Given the description of an element on the screen output the (x, y) to click on. 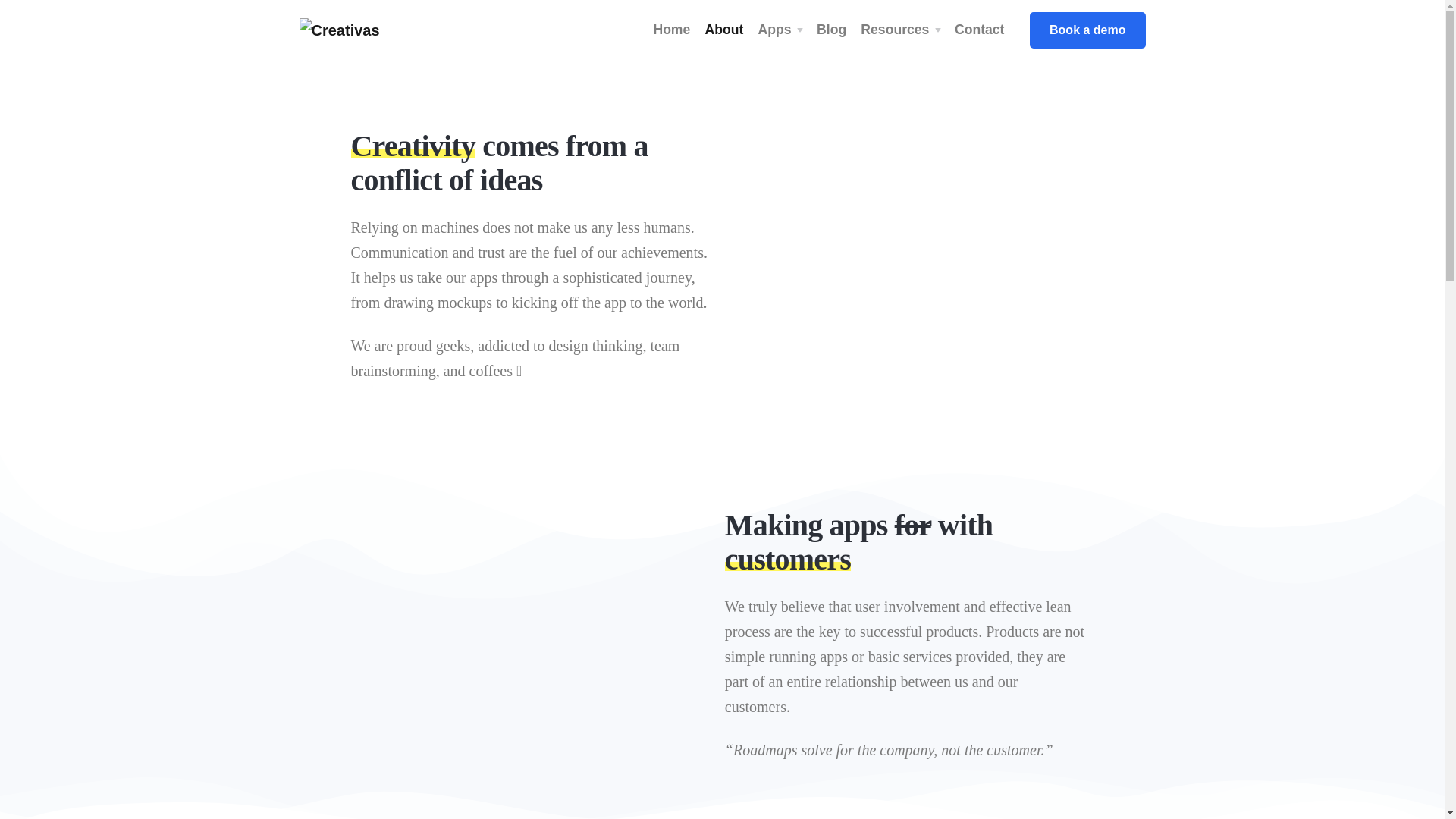
Contact (979, 29)
Blog (831, 29)
Home (671, 29)
Apps (780, 29)
About (724, 29)
Book a demo (1086, 30)
Resources (900, 29)
Blog (831, 29)
Resources (900, 29)
About (724, 29)
